Given the description of an element on the screen output the (x, y) to click on. 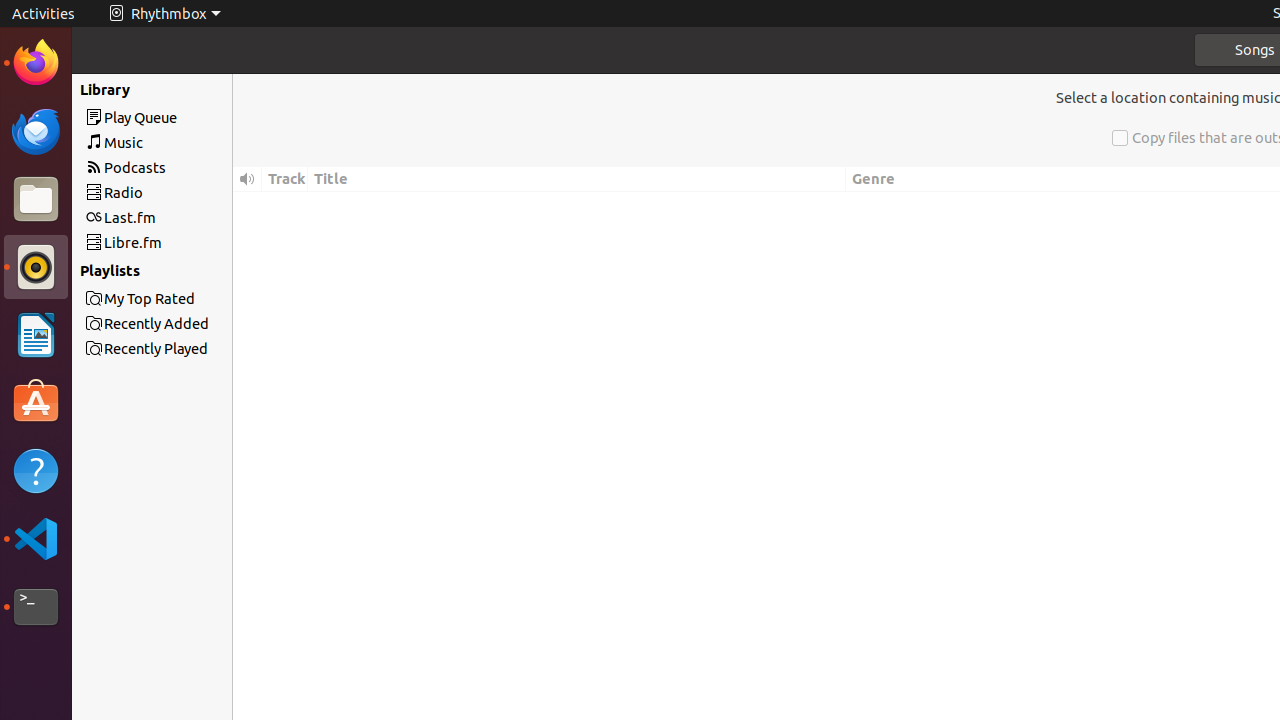
Radio Element type: table-cell (188, 192)
Playlists Element type: table-cell (177, 270)
